Given the description of an element on the screen output the (x, y) to click on. 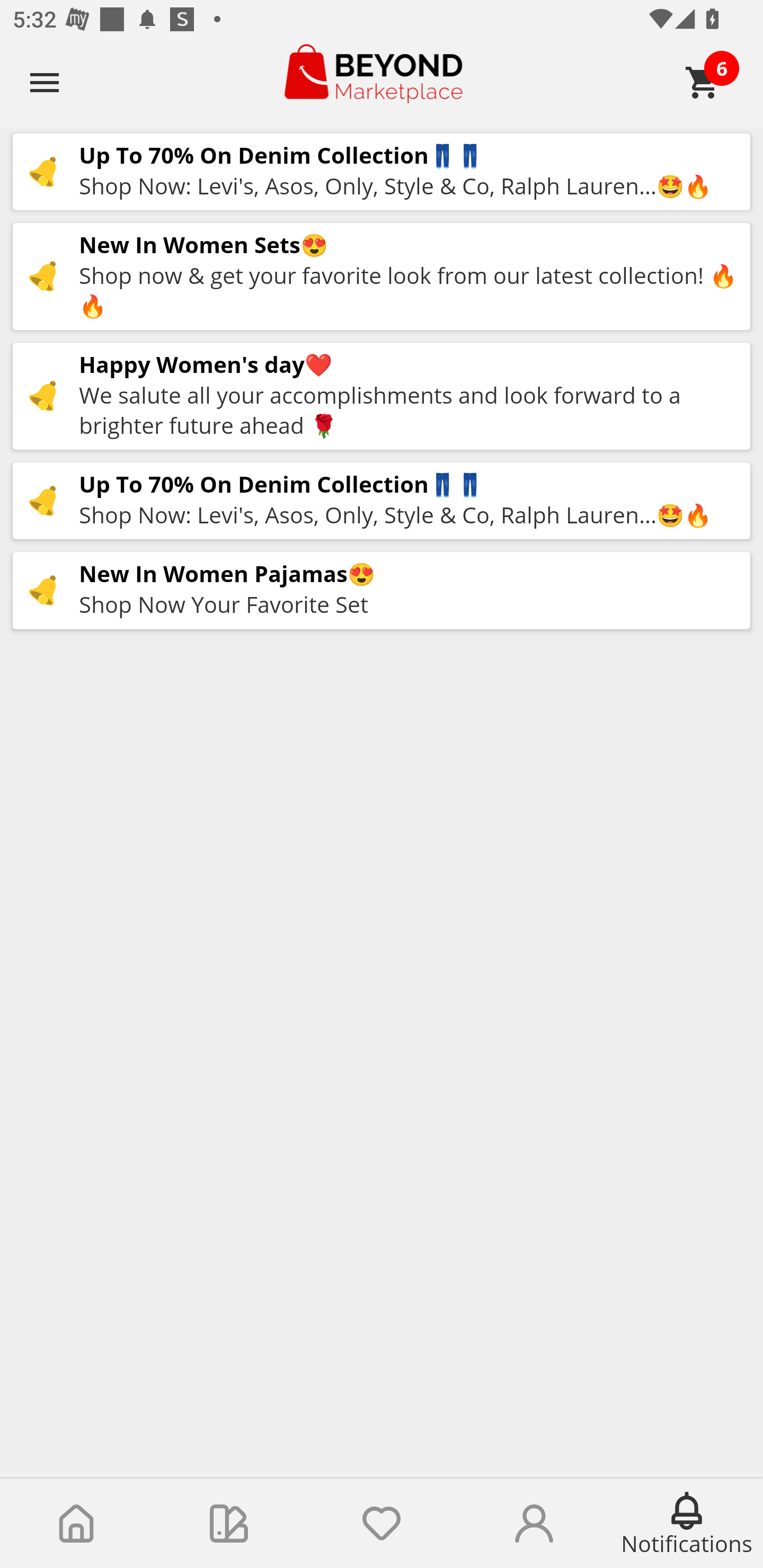
Navigate up (44, 82)
New In Women Pajamas😍 Shop Now Your Favorite Set (381, 589)
Home (76, 1523)
Collections (228, 1523)
Wishlist (381, 1523)
Account (533, 1523)
